Given the description of an element on the screen output the (x, y) to click on. 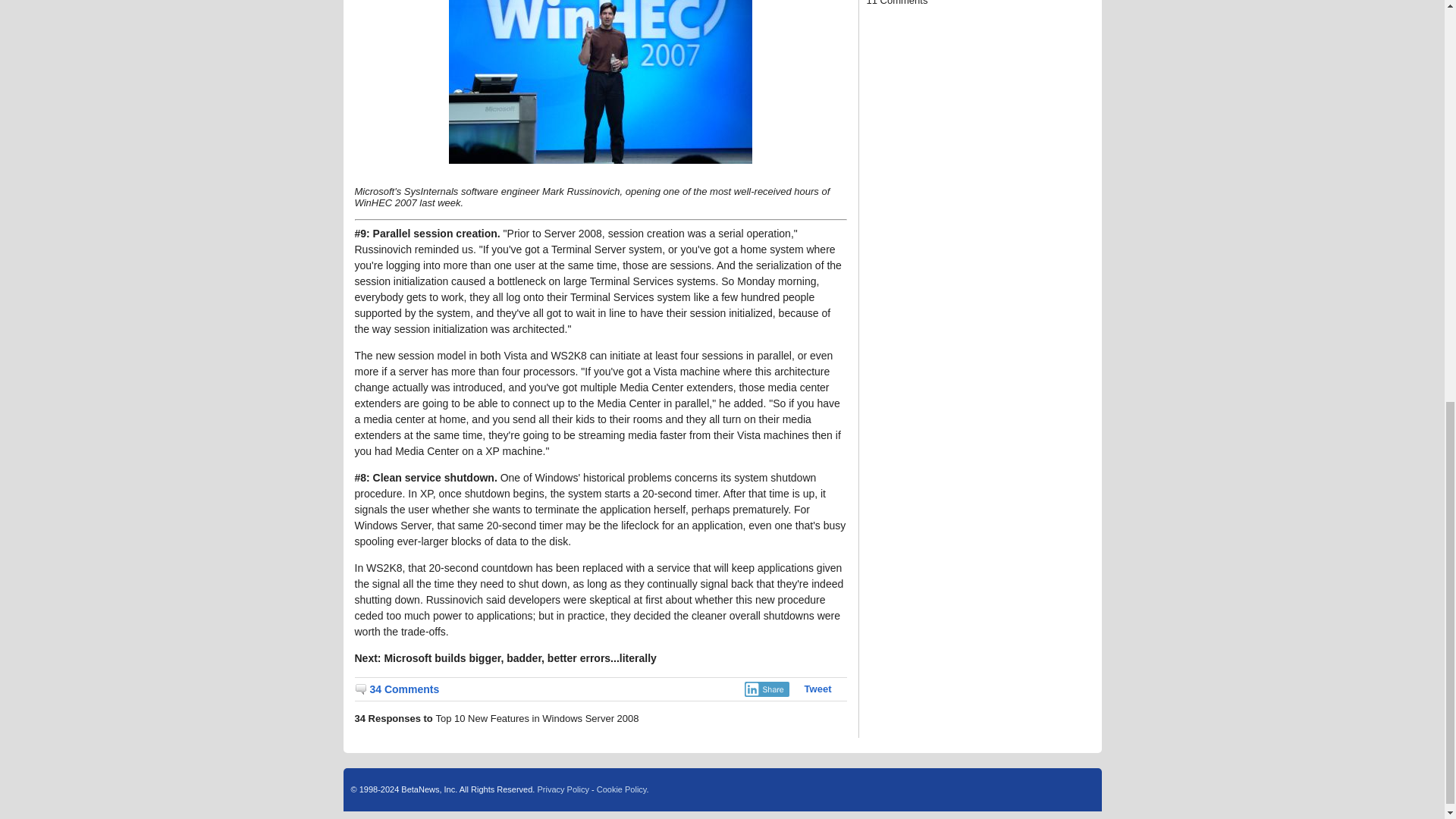
Tweet (818, 688)
Microsoft SysInternals engineer Mark Russinovich (600, 81)
34 Comments (397, 688)
Share (766, 688)
